Given the description of an element on the screen output the (x, y) to click on. 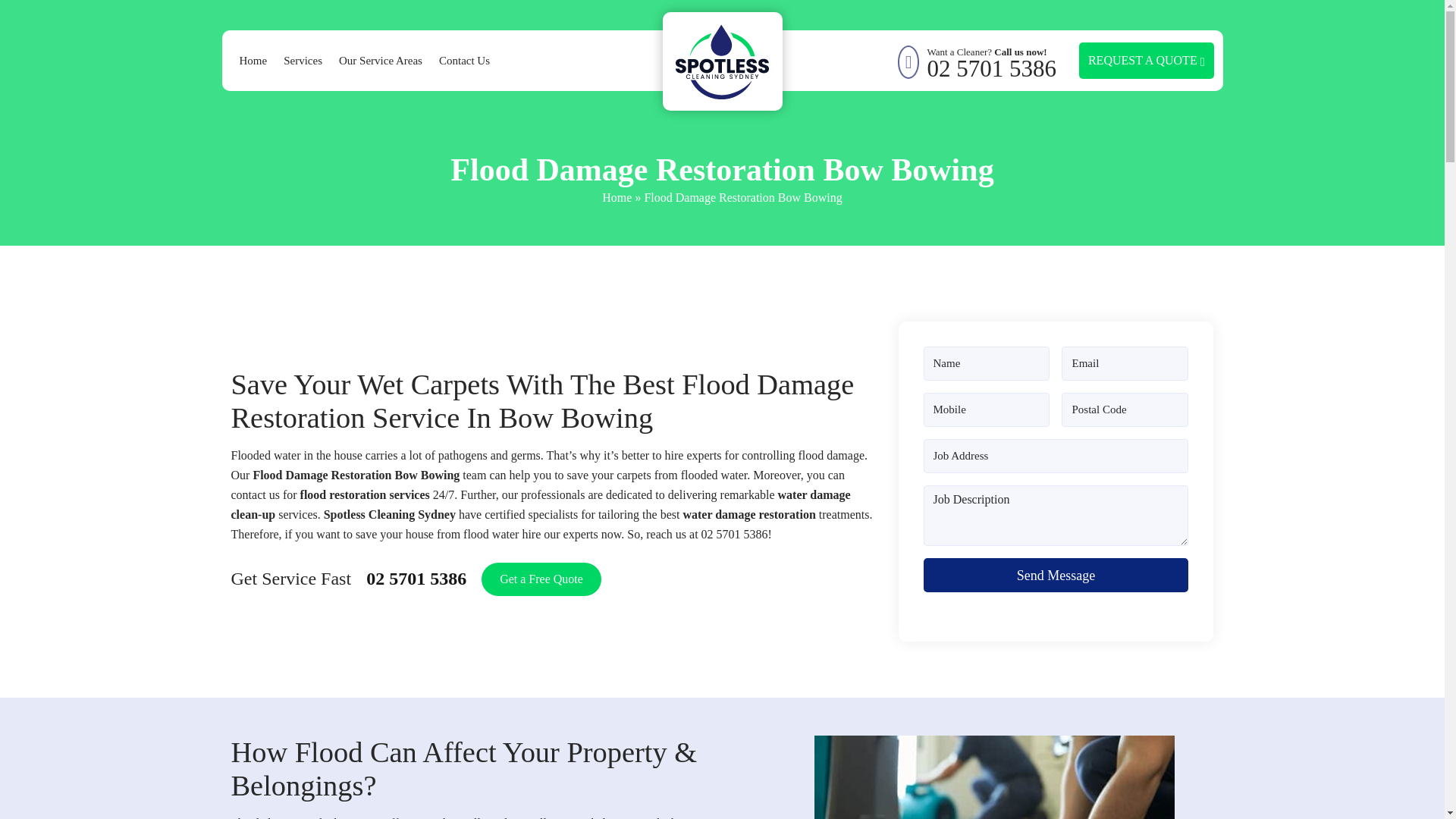
Get a Free Quote (541, 579)
Services (303, 60)
Home (253, 60)
Contact Us (463, 60)
02 5701 5386 (415, 578)
Send Message (1056, 574)
REQUEST A QUOTE (1146, 60)
Home (616, 196)
Send Message (1056, 574)
Our Service Areas (991, 60)
